Given the description of an element on the screen output the (x, y) to click on. 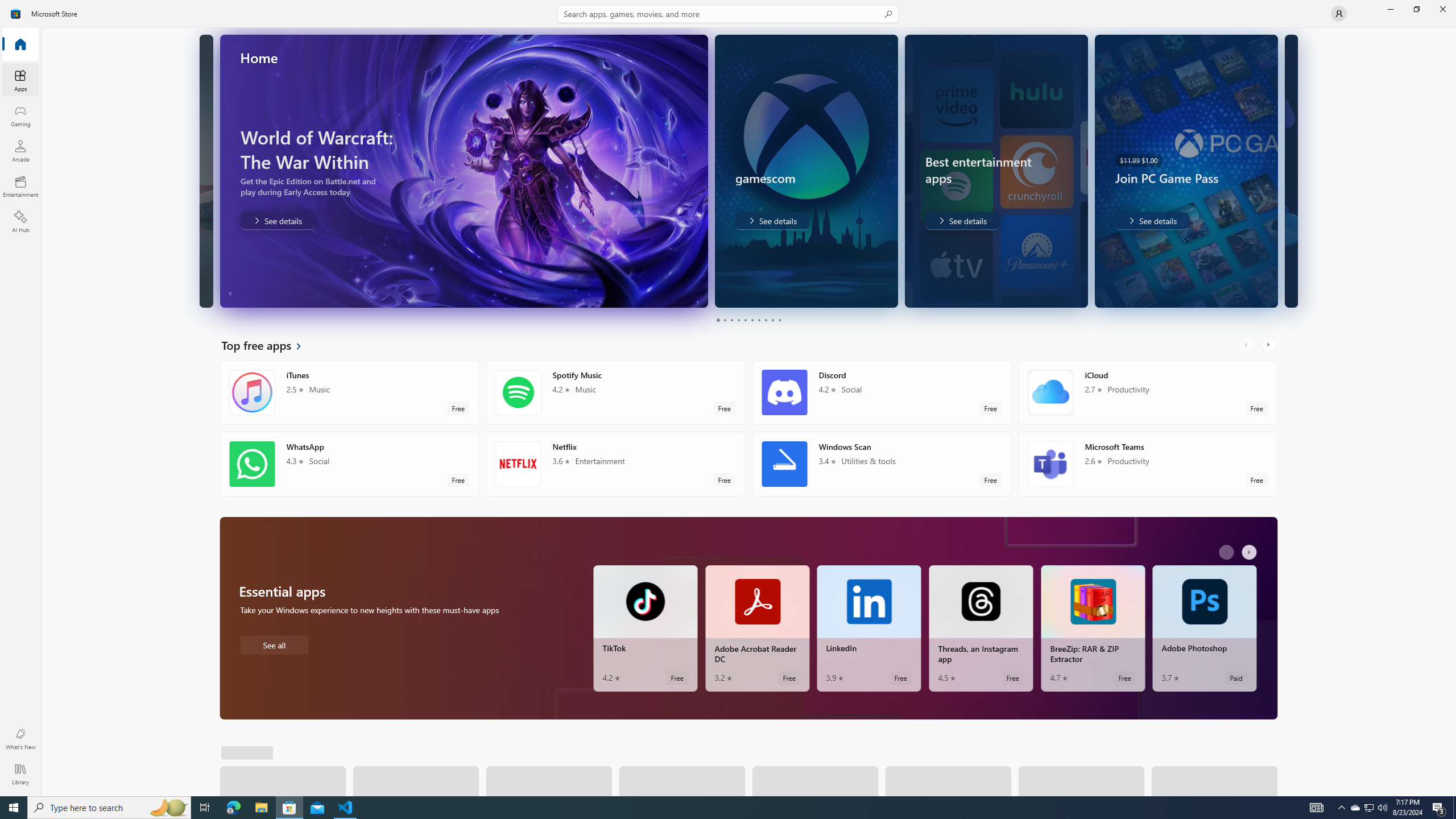
AutomationID: SectionViewAllButton (233, 750)
Apps (20, 80)
Restore Microsoft Store (1416, 9)
Page 1 (717, 319)
TikTok. Average rating of 4.2 out of five stars. Free   (644, 628)
Page 4 (738, 319)
iTunes. Average rating of 2.5 out of five stars. Free   (349, 392)
Netflix. Average rating of 3.6 out of five stars. Free   (615, 463)
Page 7 (758, 319)
Page 9 (772, 319)
gamescom. See the best of the show.  . See details (699, 221)
